Given the description of an element on the screen output the (x, y) to click on. 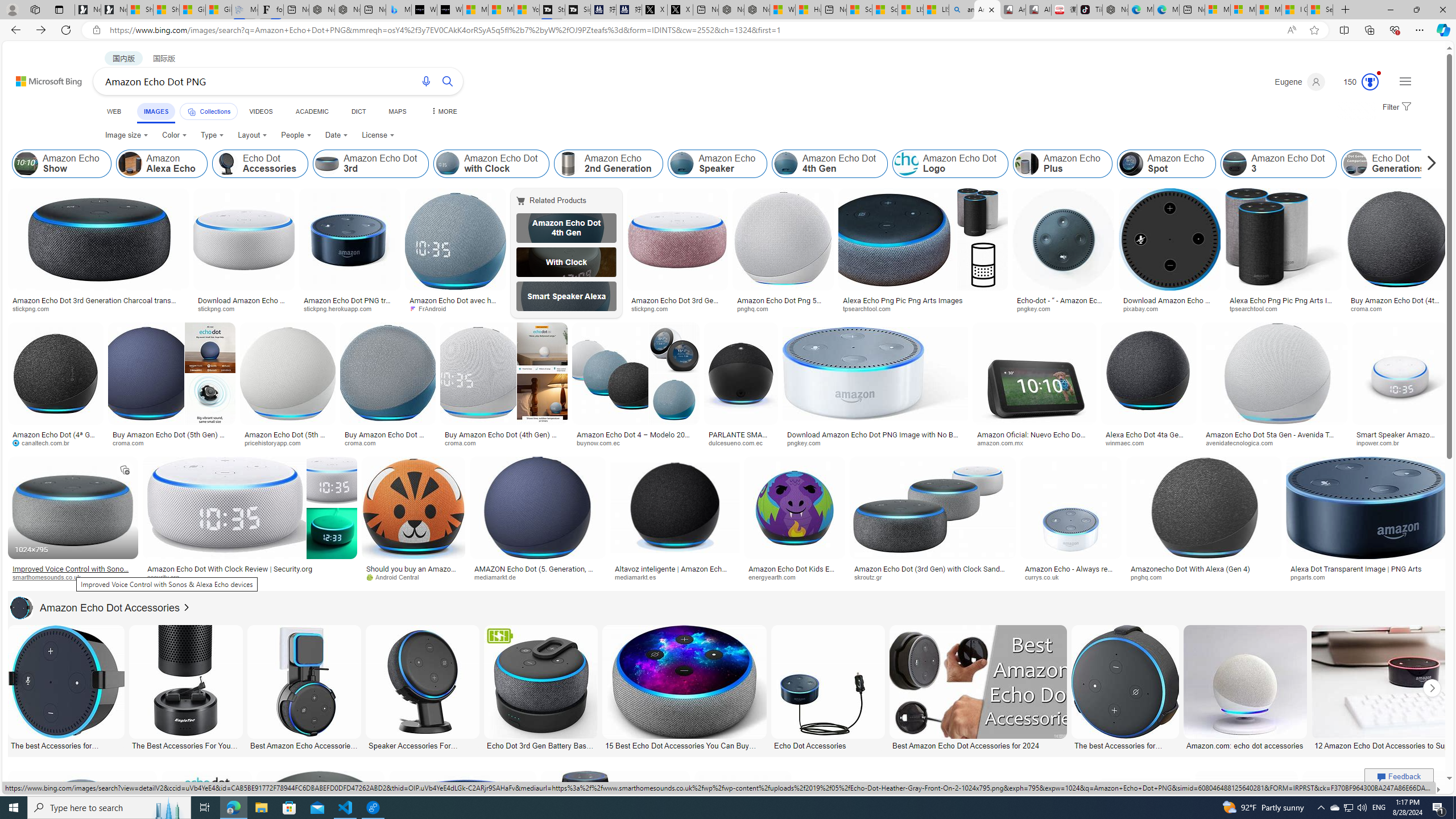
Amazon Echo Dot PNG - Search Images (986, 9)
Amazonecho Dot With Alexa (Gen 4) (1203, 568)
Amazonecho Dot With Alexa (Gen 4)pnghq.comSave (1205, 521)
Date (336, 135)
Amazon Echo Show (25, 163)
MAPS (397, 111)
mediamarkt.es (638, 576)
Alexa Dot Transparent Image | PNG Arts (1356, 568)
